Given the description of an element on the screen output the (x, y) to click on. 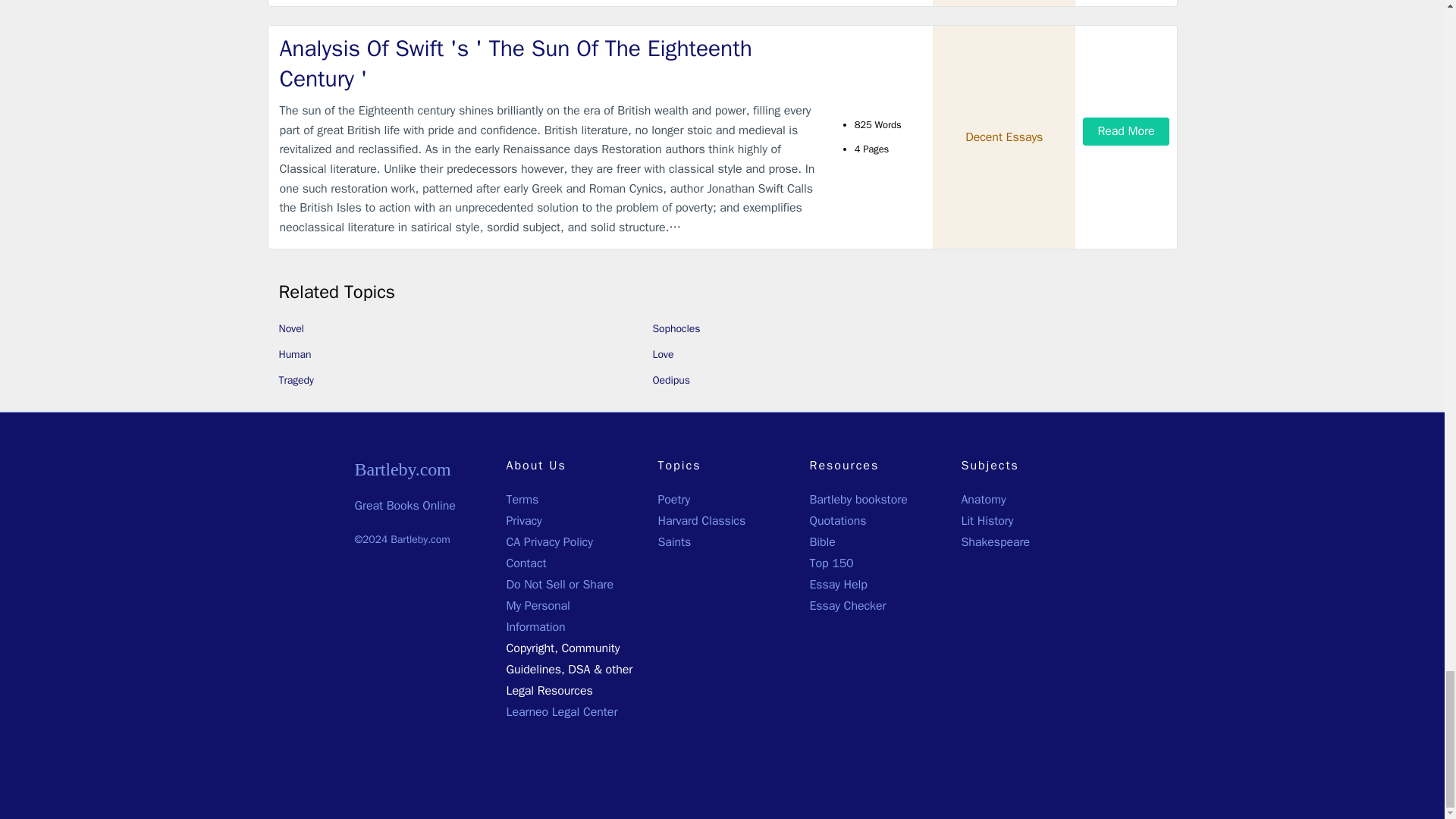
Oedipus (670, 379)
Love (662, 354)
Human (295, 354)
Novel (291, 328)
Sophocles (676, 328)
Tragedy (296, 379)
